Given the description of an element on the screen output the (x, y) to click on. 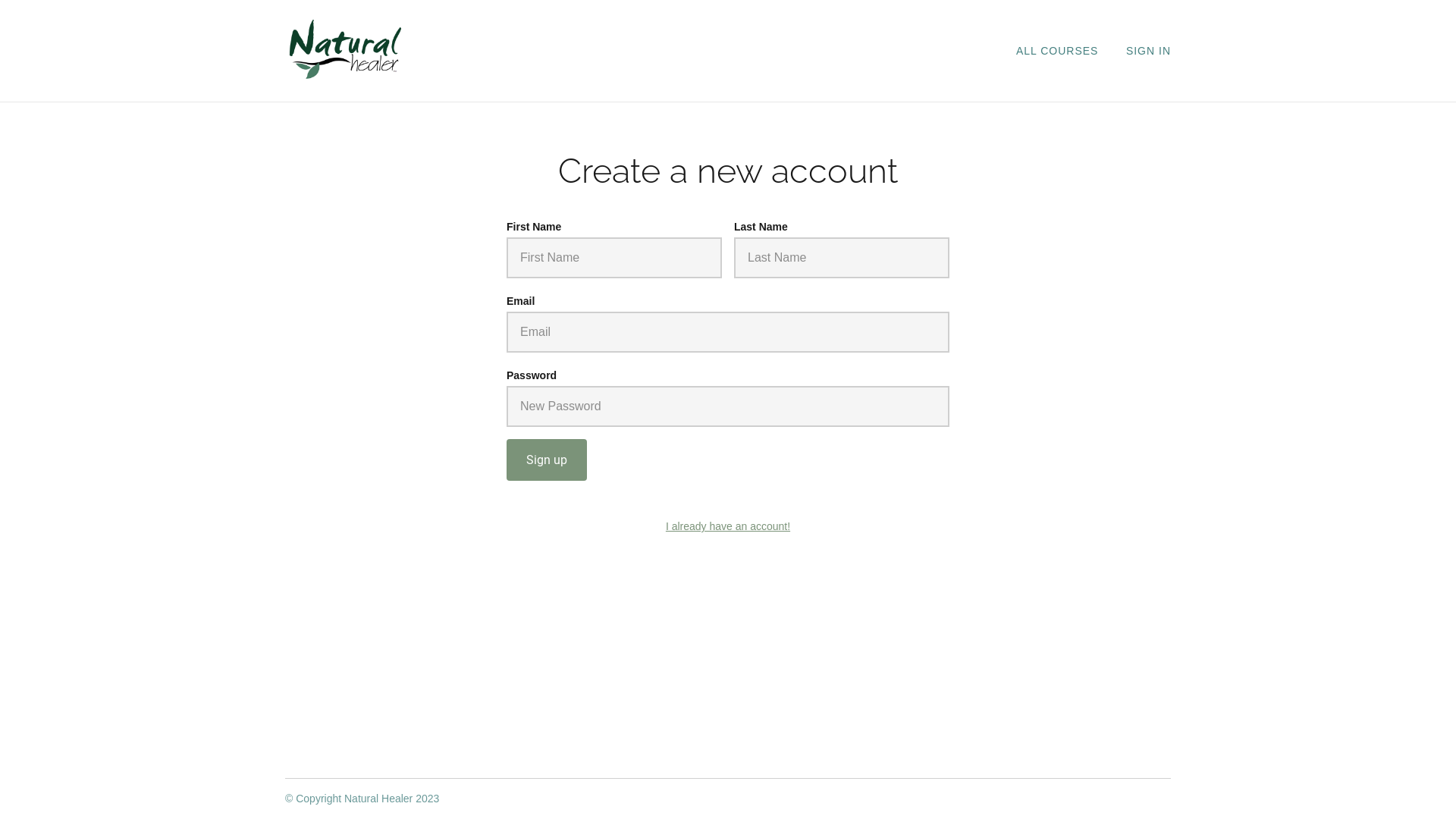
Sign up Element type: text (546, 459)
I already have an account! Element type: text (727, 526)
ALL COURSES Element type: text (1057, 50)
SIGN IN Element type: text (1148, 50)
Natural Healer Element type: text (345, 49)
